Given the description of an element on the screen output the (x, y) to click on. 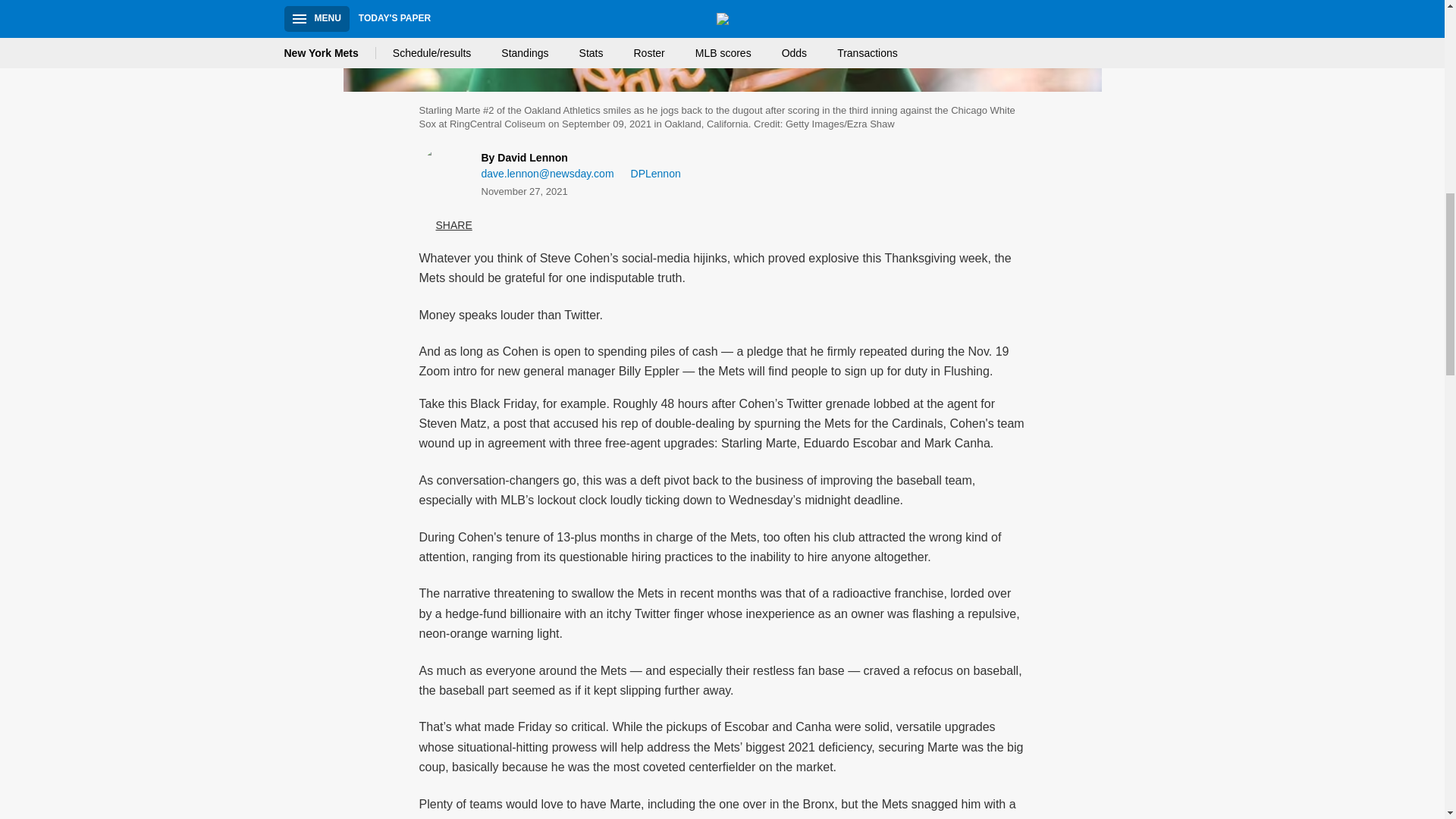
DPLennon (650, 173)
SHARE (445, 225)
Read in the app (238, 707)
